Given the description of an element on the screen output the (x, y) to click on. 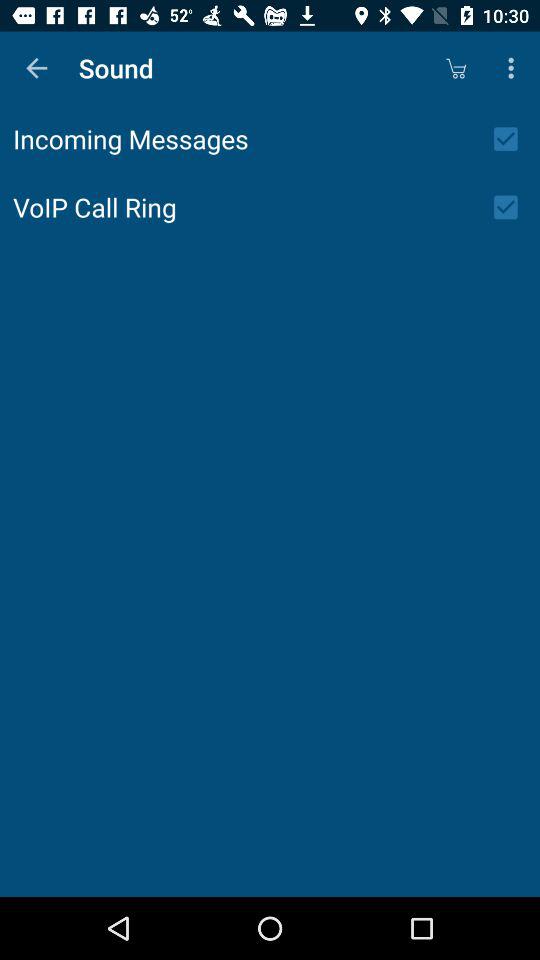
turn off the item above incoming messages item (36, 68)
